Given the description of an element on the screen output the (x, y) to click on. 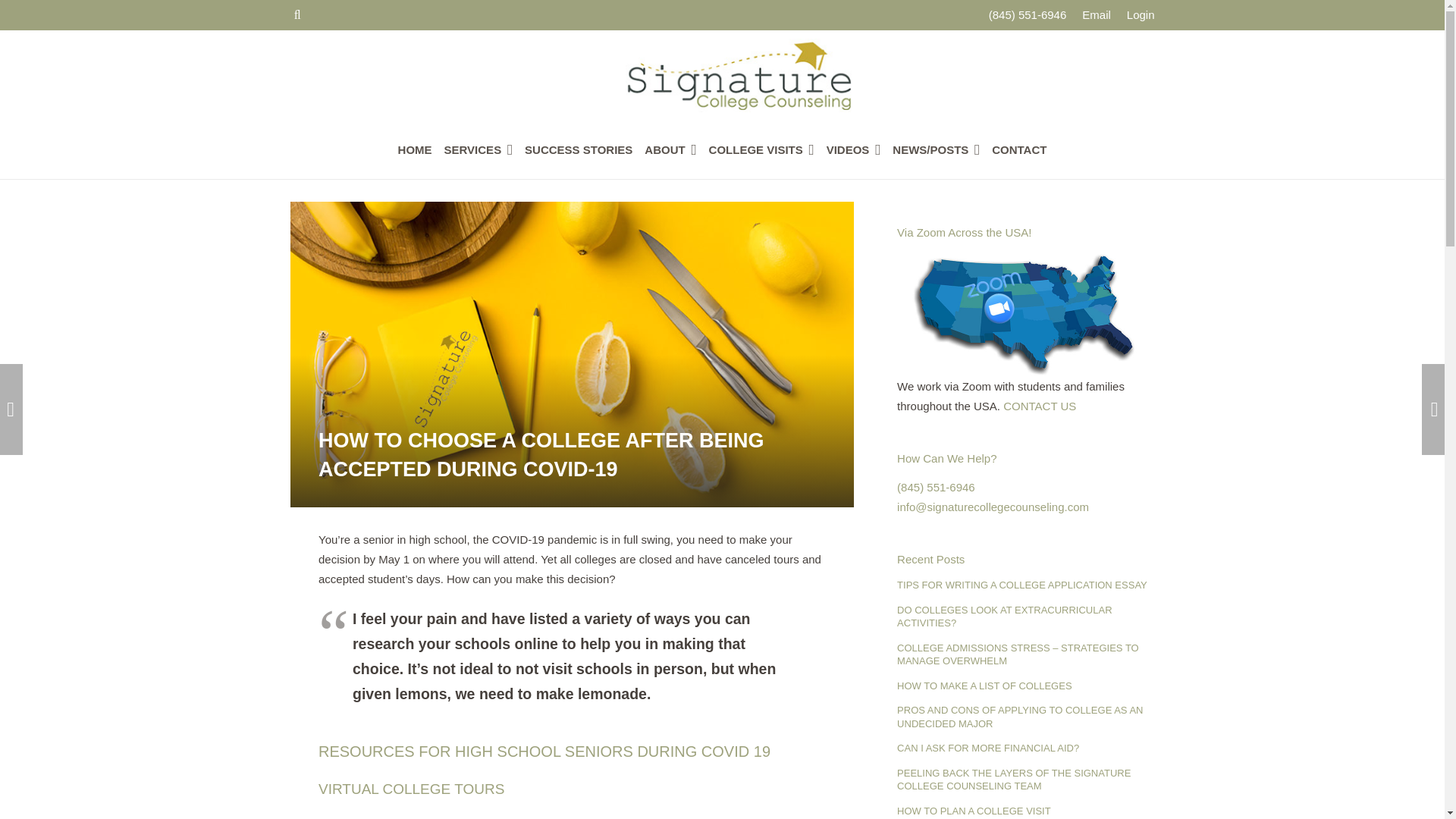
ABOUT (670, 149)
HOME (414, 149)
SUCCESS STORIES (578, 149)
Email (1095, 14)
Junior Year of High School College Planning (11, 409)
VIDEOS (853, 149)
SERVICES (478, 149)
Login (1140, 14)
COLLEGE VISITS (762, 149)
